Given the description of an element on the screen output the (x, y) to click on. 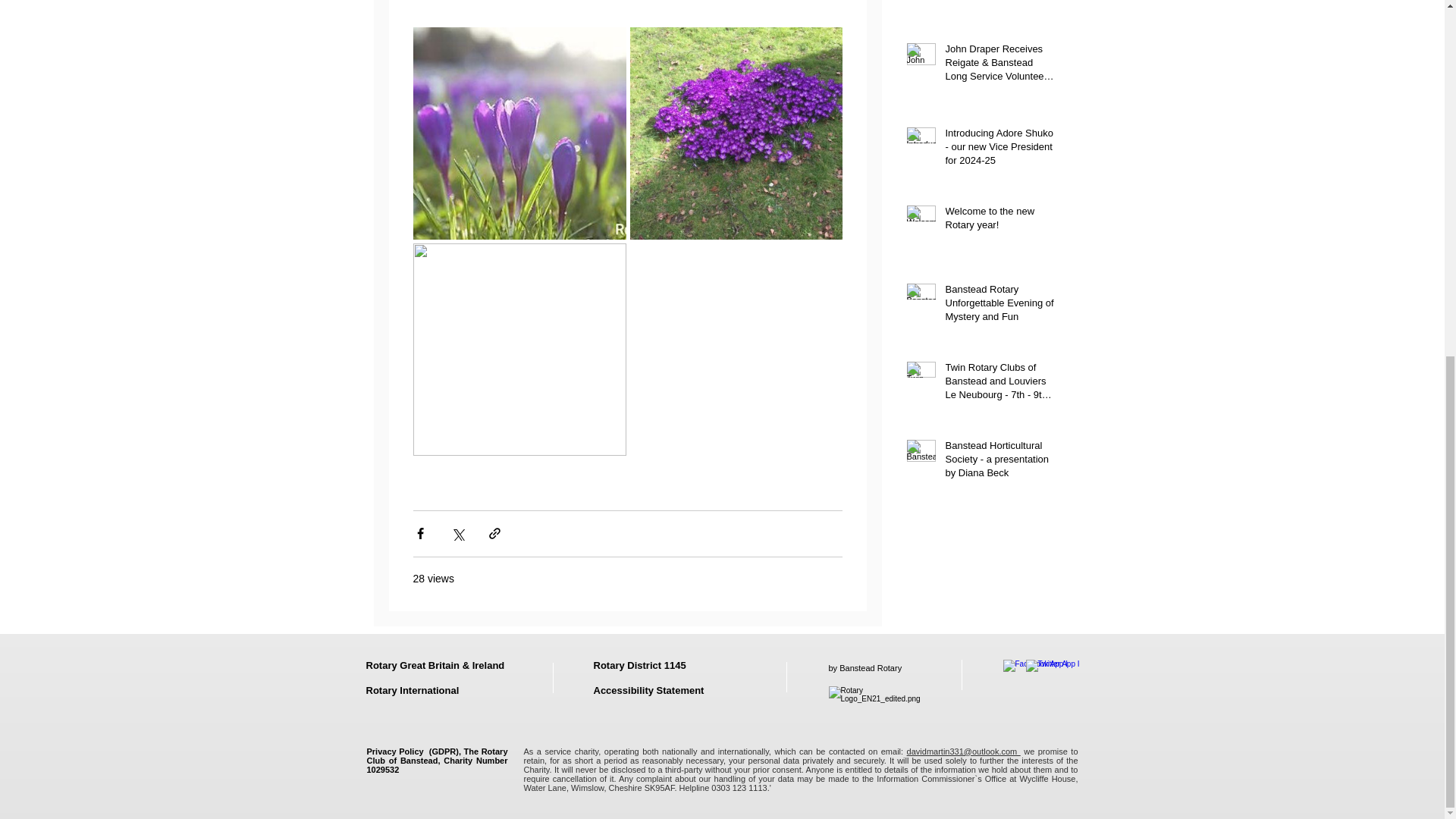
Introducing Adore Shuko - our new Vice President for 2024-25 (999, 150)
Banstead Rotary Unforgettable Evening of Mystery and Fun (999, 306)
Welcome to the new Rotary year! (999, 221)
Rotary International (411, 690)
Accessibility Statement  (649, 690)
Rotary District 1145 (638, 664)
